Given the description of an element on the screen output the (x, y) to click on. 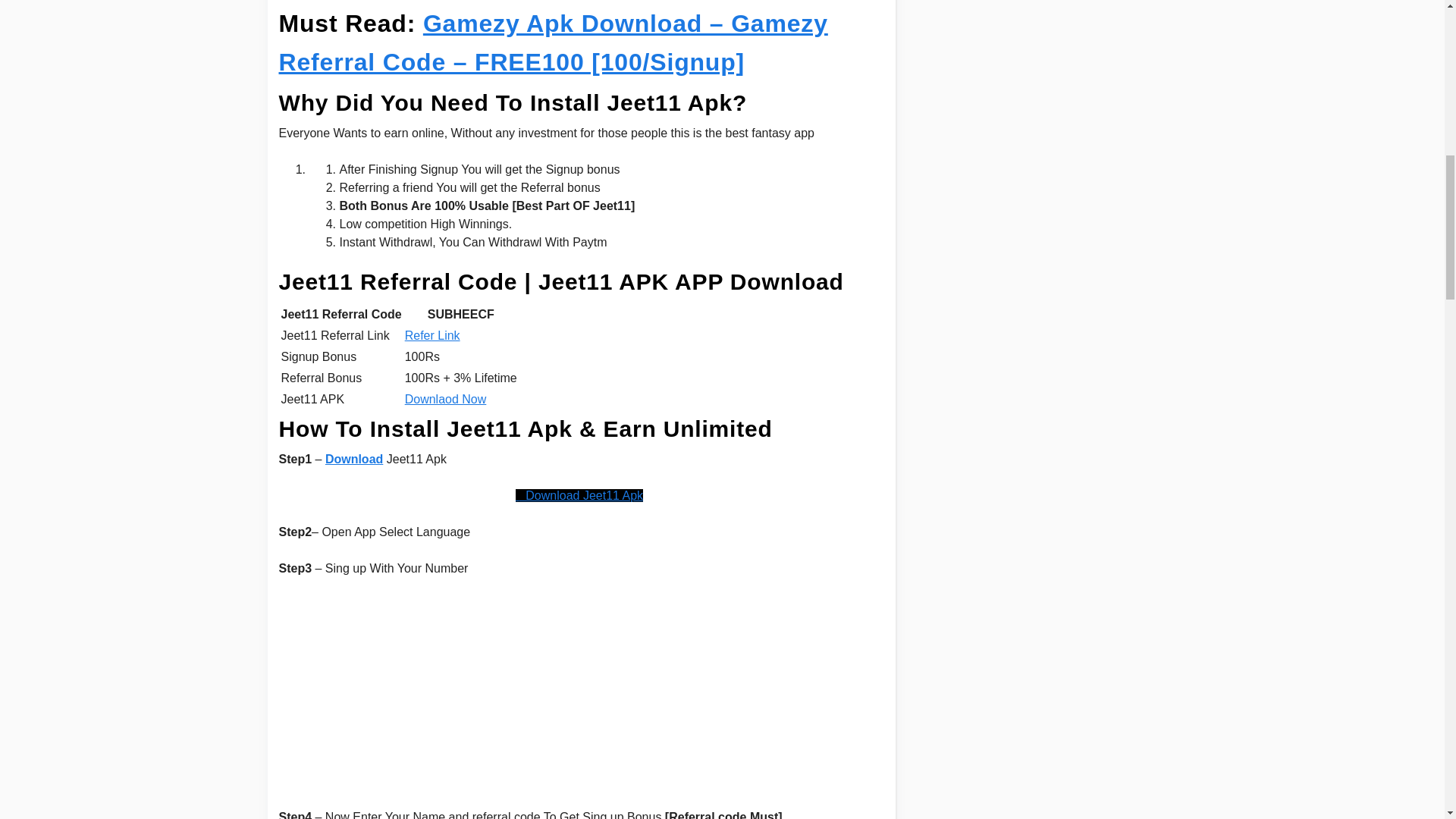
Downlaod Now (445, 399)
Refer Link (432, 335)
